Given the description of an element on the screen output the (x, y) to click on. 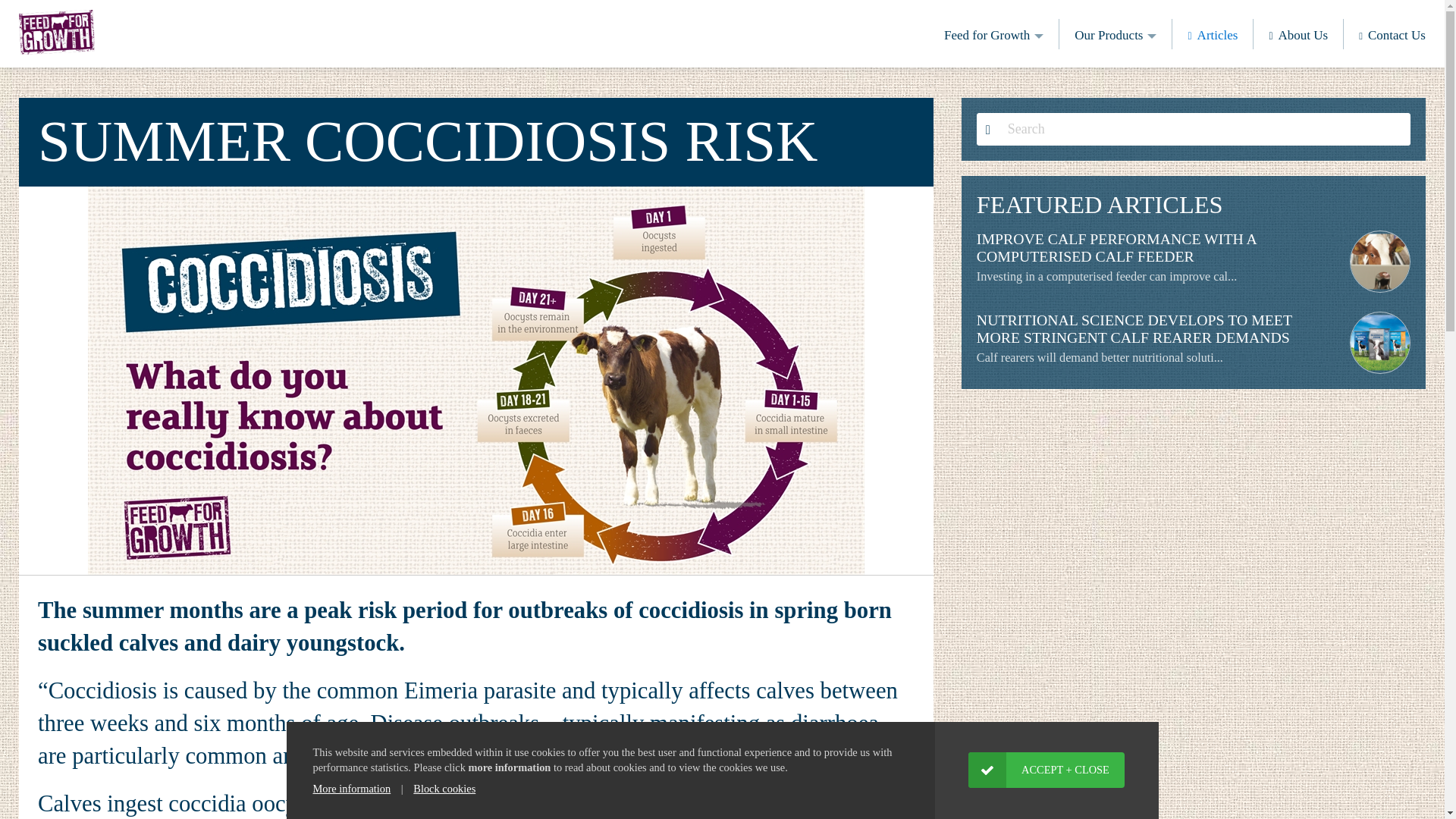
Feed for Growth - Volac (56, 31)
Feed for Growth (993, 33)
Articles (1217, 33)
Our Products (1115, 33)
Contact Us (1396, 33)
More information (351, 788)
About Us (1302, 33)
Block cookies (444, 788)
